Given the description of an element on the screen output the (x, y) to click on. 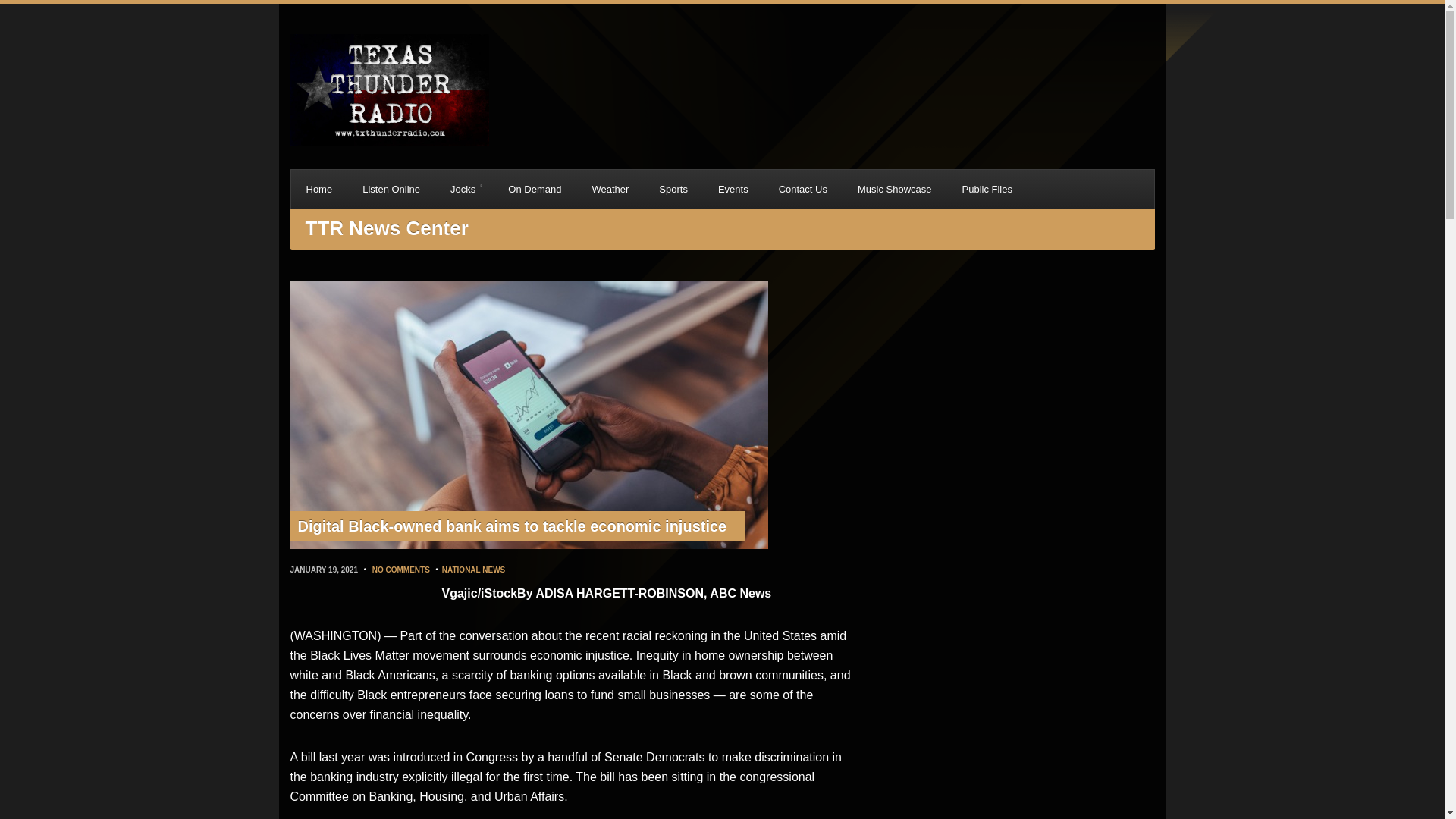
On Demand (534, 188)
Music Showcase (895, 188)
Public Files (986, 188)
Weather (609, 188)
NATIONAL NEWS (473, 569)
NO COMMENTS (400, 569)
Listen Online (391, 188)
Home (319, 188)
Jocks (464, 188)
Contact Us (802, 188)
Sports (673, 188)
Events (732, 188)
